Given the description of an element on the screen output the (x, y) to click on. 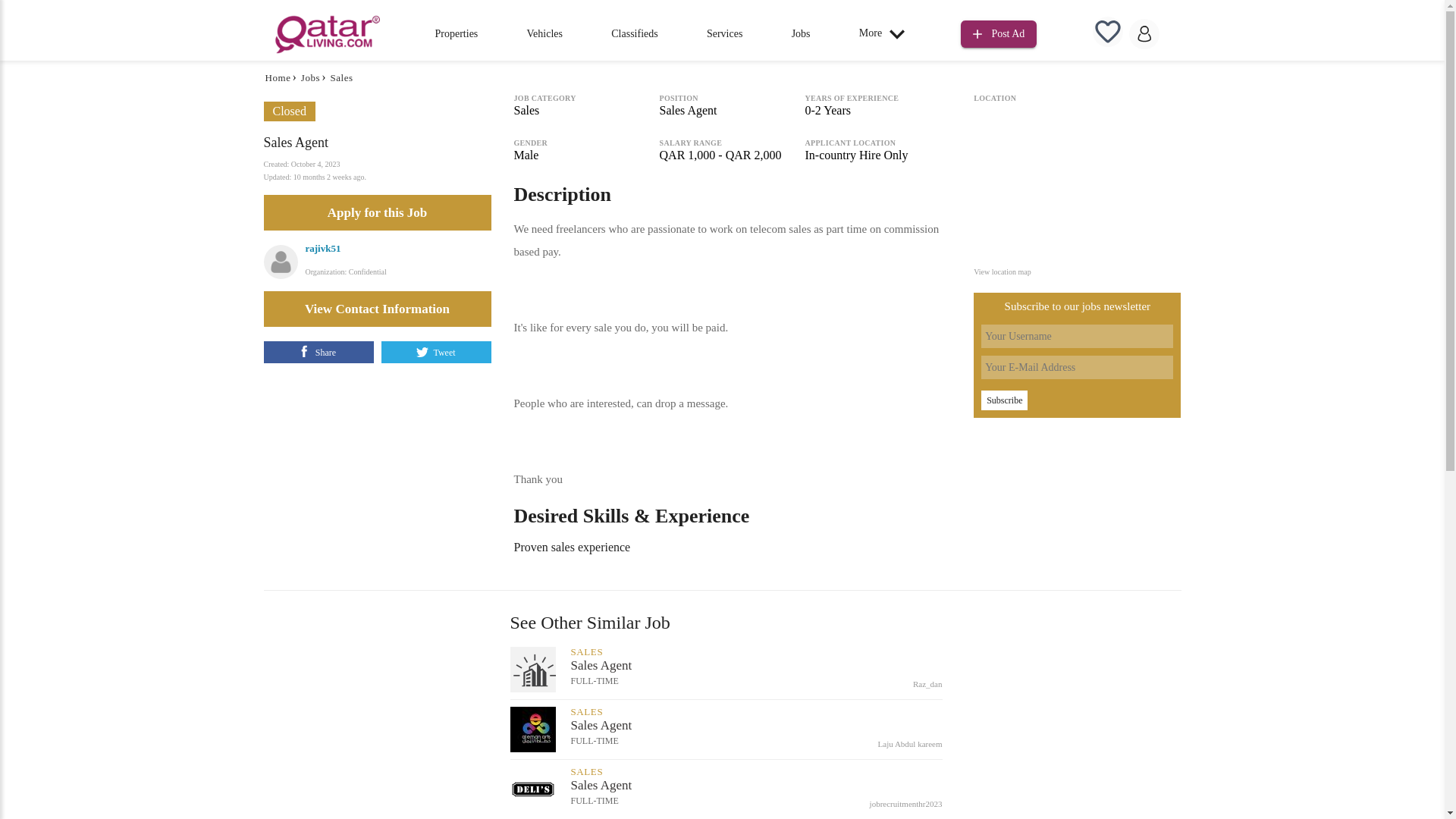
Post Ad (998, 34)
More (885, 33)
Subscribe (1004, 399)
Classifieds (634, 33)
Post Ad (998, 32)
